Given the description of an element on the screen output the (x, y) to click on. 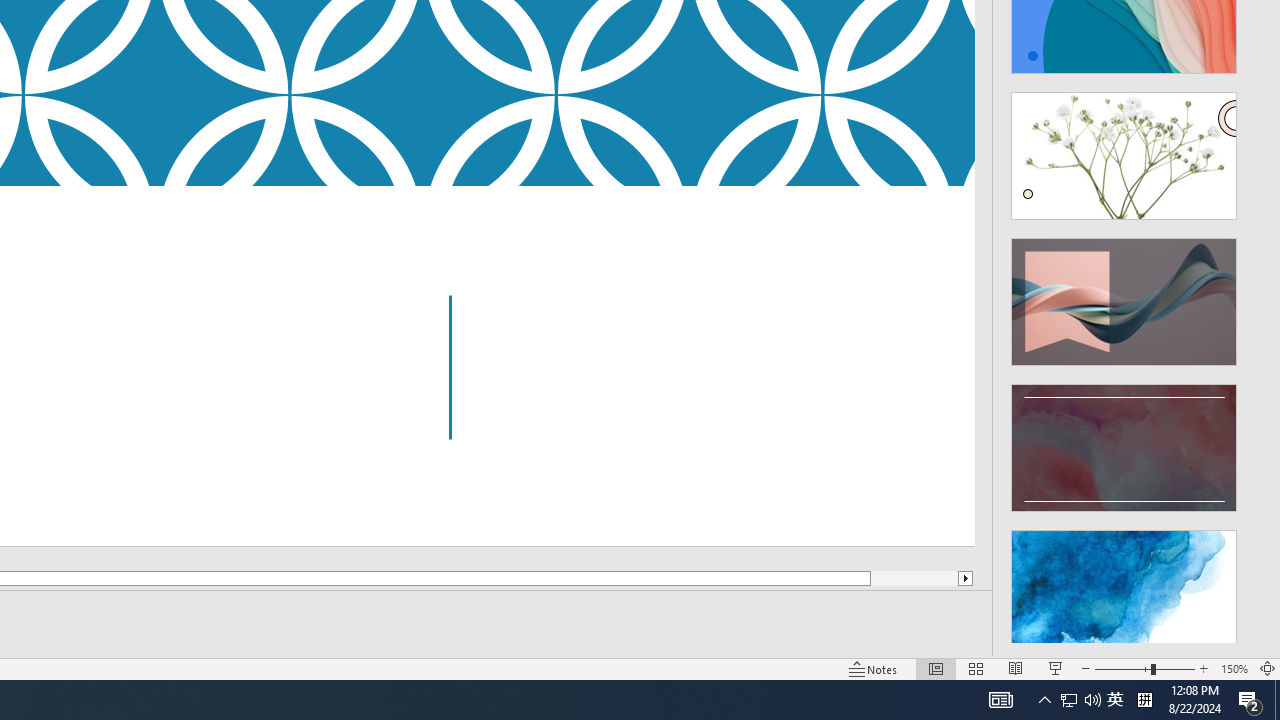
Class: NetUIImage (1124, 593)
Zoom 150% (1234, 668)
Notes  (874, 668)
Design Idea (1124, 587)
